Given the description of an element on the screen output the (x, y) to click on. 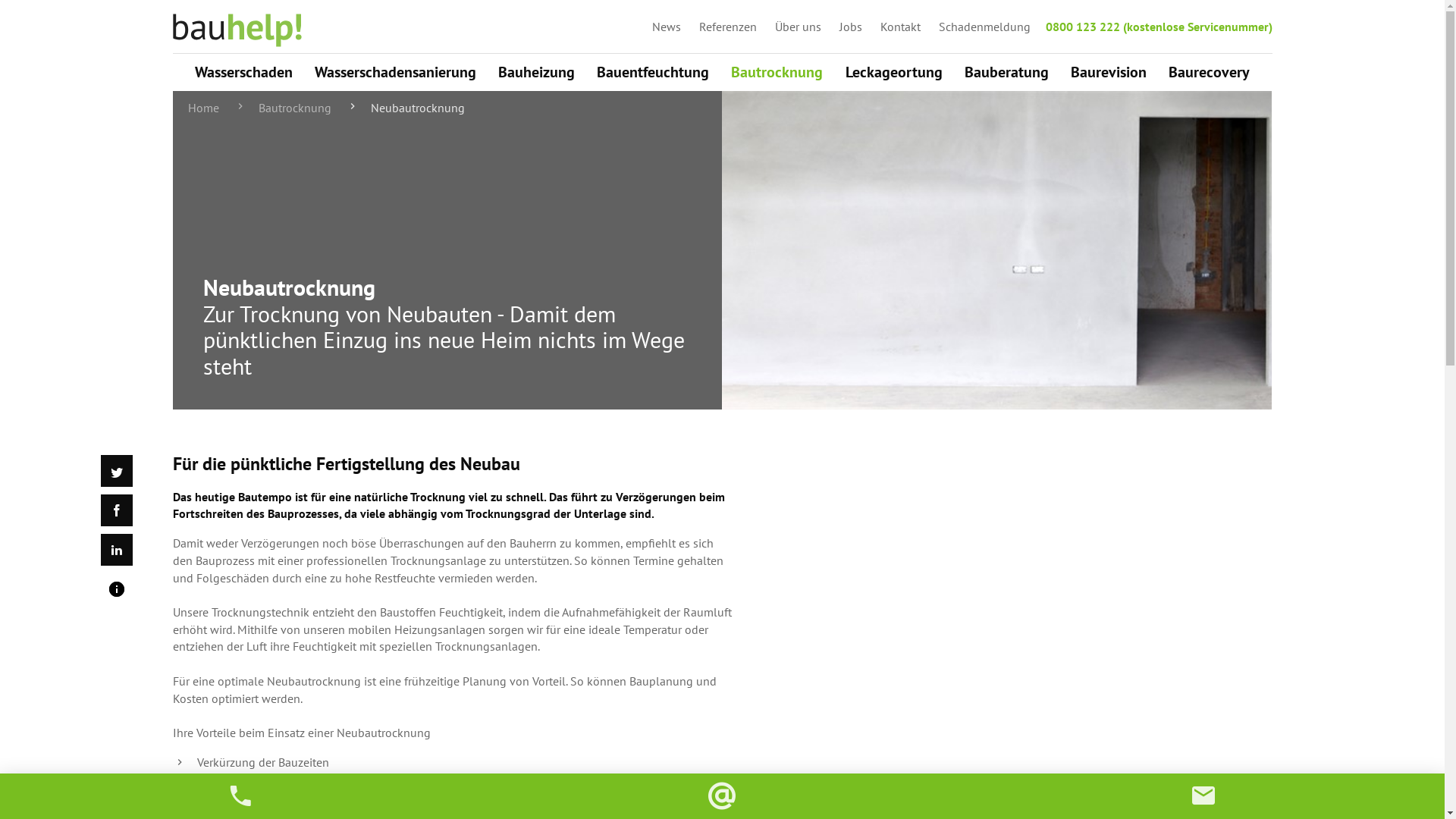
Bautrocknung Element type: text (776, 71)
Wasserschaden Element type: text (243, 71)
weitere Informationen Element type: hover (115, 589)
Bei Twitter teilen Element type: hover (115, 470)
Bauhelp Bauberatungen GmbH Element type: hover (236, 30)
Referenzen Element type: text (727, 26)
Bautrocknung Element type: text (281, 107)
Home Element type: text (203, 107)
Neubautrocknung Element type: text (404, 107)
Wasserschadensanierung Element type: text (395, 71)
Leckageortung Element type: text (893, 71)
Baurecovery Element type: text (1208, 71)
0800 123 222 (kostenlose Servicenummer) Element type: text (1157, 26)
Schadenmeldung Element type: text (984, 26)
Kontakt Element type: text (899, 26)
Bauheizung Element type: text (536, 71)
Jobs Element type: text (849, 26)
Bei LinkedIn teilen Element type: hover (115, 549)
Bauberatung Element type: text (1006, 71)
Baurevision Element type: text (1108, 71)
News Element type: text (666, 26)
Bei Facebook teilen Element type: hover (115, 510)
Bauentfeuchtung Element type: text (652, 71)
